Given the description of an element on the screen output the (x, y) to click on. 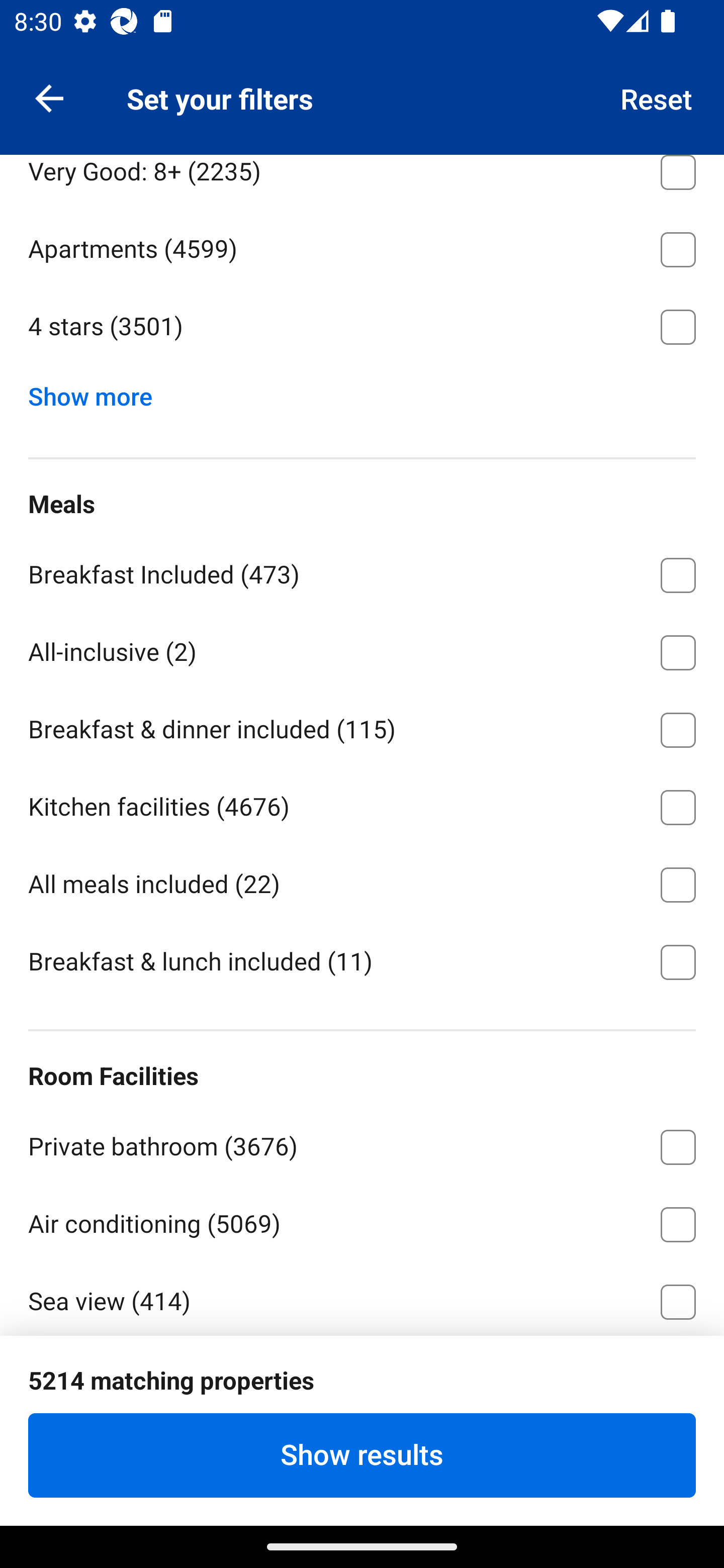
Navigate up (49, 97)
Hotels ⁦(538) (361, 91)
Reset (656, 97)
Very Good: 8+ ⁦(2235) (361, 180)
Apartments ⁦(4599) (361, 245)
4 stars ⁦(3501) (361, 327)
Show more (97, 392)
Breakfast Included ⁦(473) (361, 571)
All-inclusive ⁦(2) (361, 648)
Breakfast & dinner included ⁦(115) (361, 726)
Kitchen facilities ⁦(4676) (361, 804)
All meals included ⁦(22) (361, 881)
Breakfast & lunch included ⁦(11) (361, 960)
Private bathroom ⁦(3676) (361, 1143)
Air conditioning ⁦(5069) (361, 1221)
Sea view ⁦(414) (361, 1297)
Balcony ⁦(3405) (361, 1375)
Kitchen/Kitchenette ⁦(4676) (361, 1456)
